Given the description of an element on the screen output the (x, y) to click on. 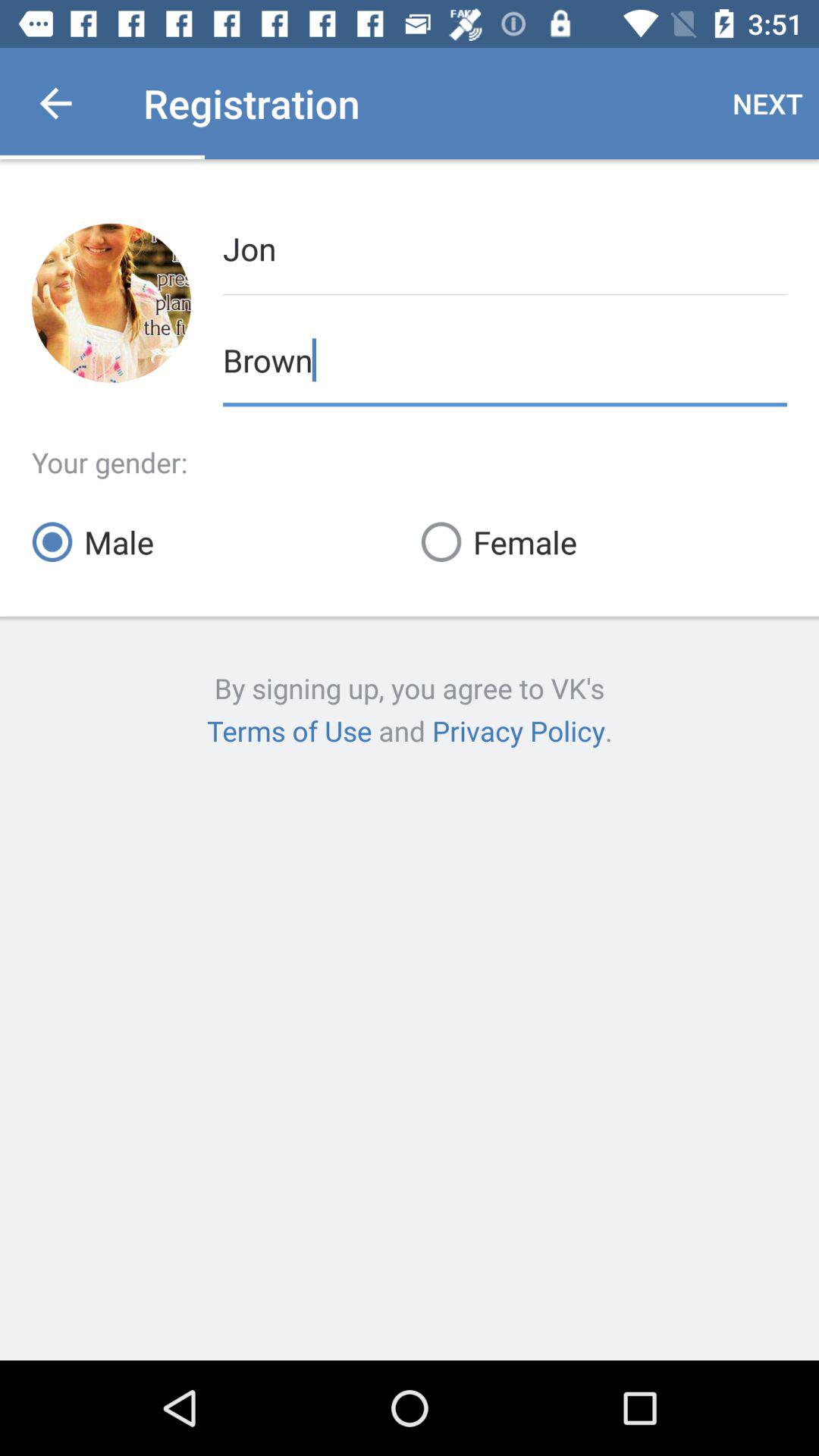
press icon below the jon icon (504, 358)
